Given the description of an element on the screen output the (x, y) to click on. 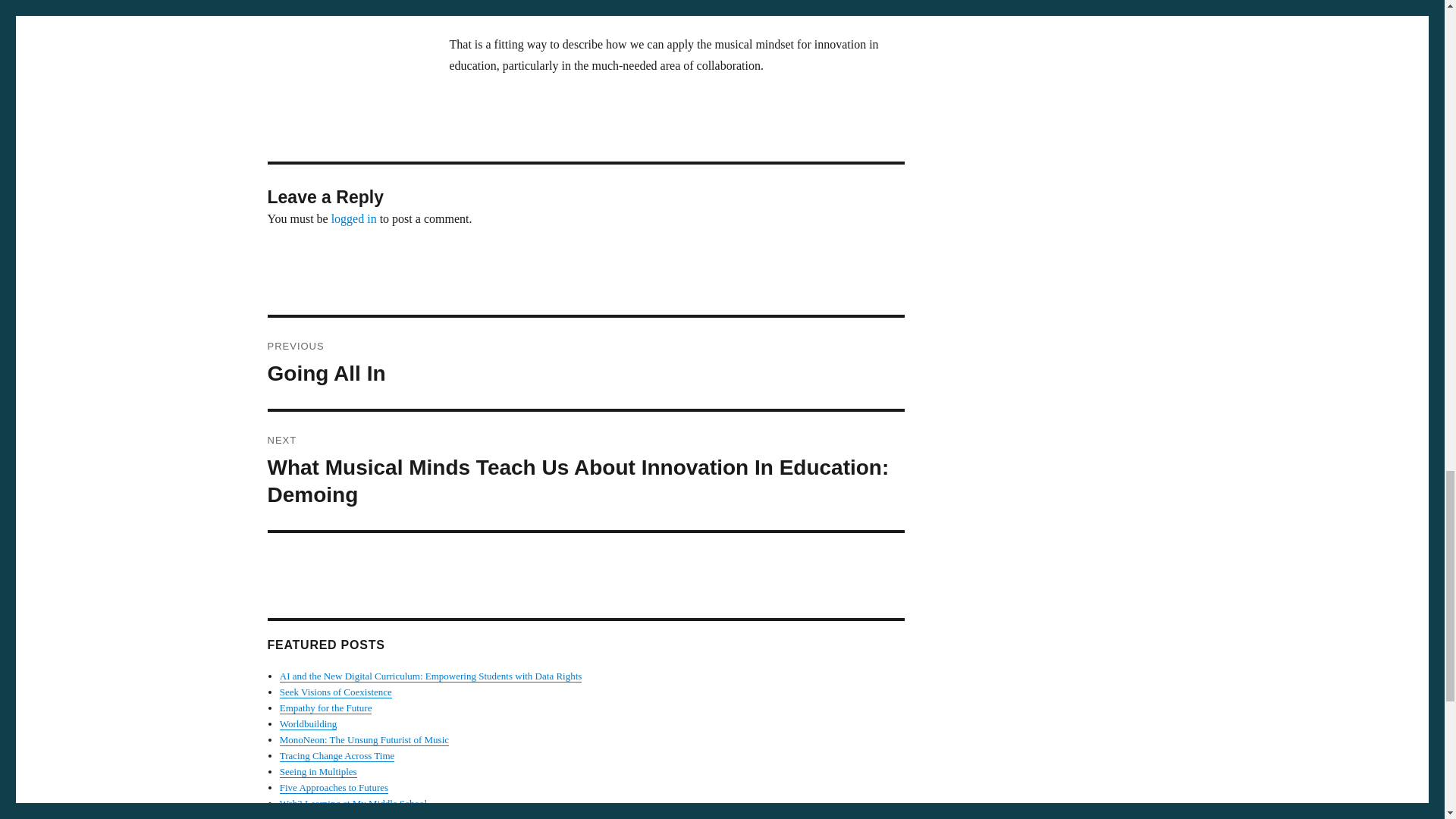
Seeing in Multiples (317, 771)
Seek Visions of Coexistence (335, 691)
Worldbuilding (308, 723)
Five Approaches to Futures (585, 362)
logged in (333, 787)
Tracing Change Across Time (354, 218)
Empathy for the Future (336, 755)
Web3 Learning at My Middle School (325, 707)
MonoNeon: The Unsung Futurist of Music (352, 803)
Teaching With Miss Ann (363, 739)
